Given the description of an element on the screen output the (x, y) to click on. 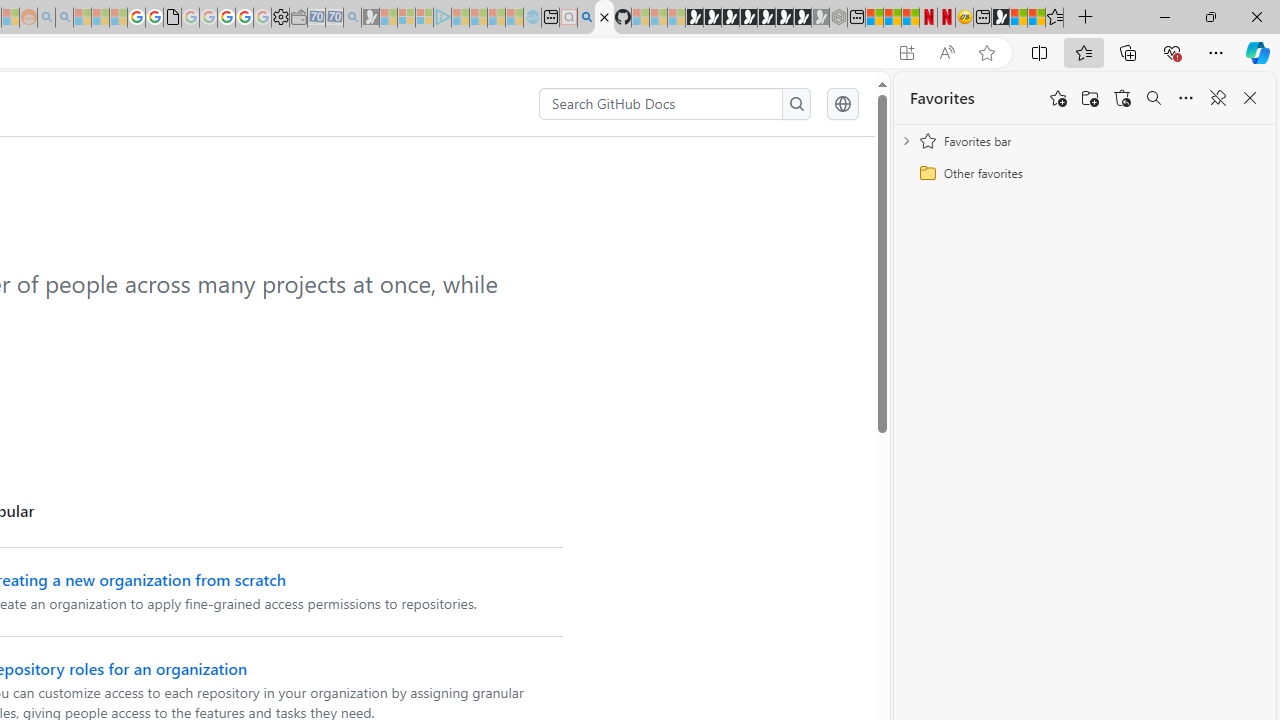
Add folder (1089, 98)
